Given the description of an element on the screen output the (x, y) to click on. 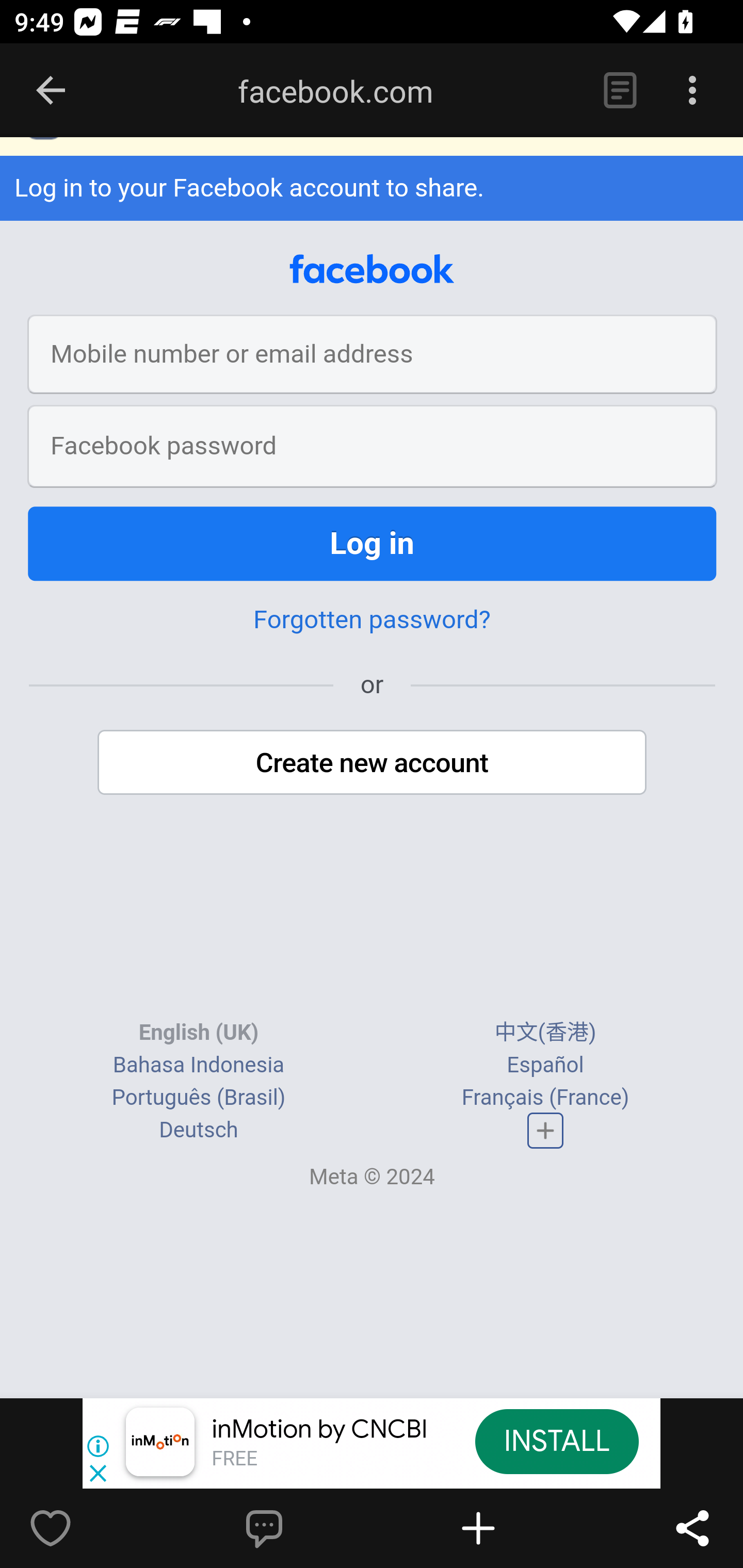
Back (50, 90)
Reader View (619, 90)
Options (692, 90)
facebook (372, 270)
Log in (372, 544)
Forgotten password? (371, 620)
Create new account (372, 763)
中文(香港) (544, 1033)
Bahasa Indonesia (198, 1065)
Español (545, 1065)
Português (Brasil) (197, 1098)
Français (France) (544, 1098)
Complete list of languages (545, 1130)
Deutsch (198, 1130)
INSTALL (556, 1441)
inMotion by CNCBI (319, 1429)
FREE (234, 1459)
Like (93, 1528)
Write a comment… (307, 1528)
Flip into Magazine (521, 1528)
Share (692, 1528)
